Given the description of an element on the screen output the (x, y) to click on. 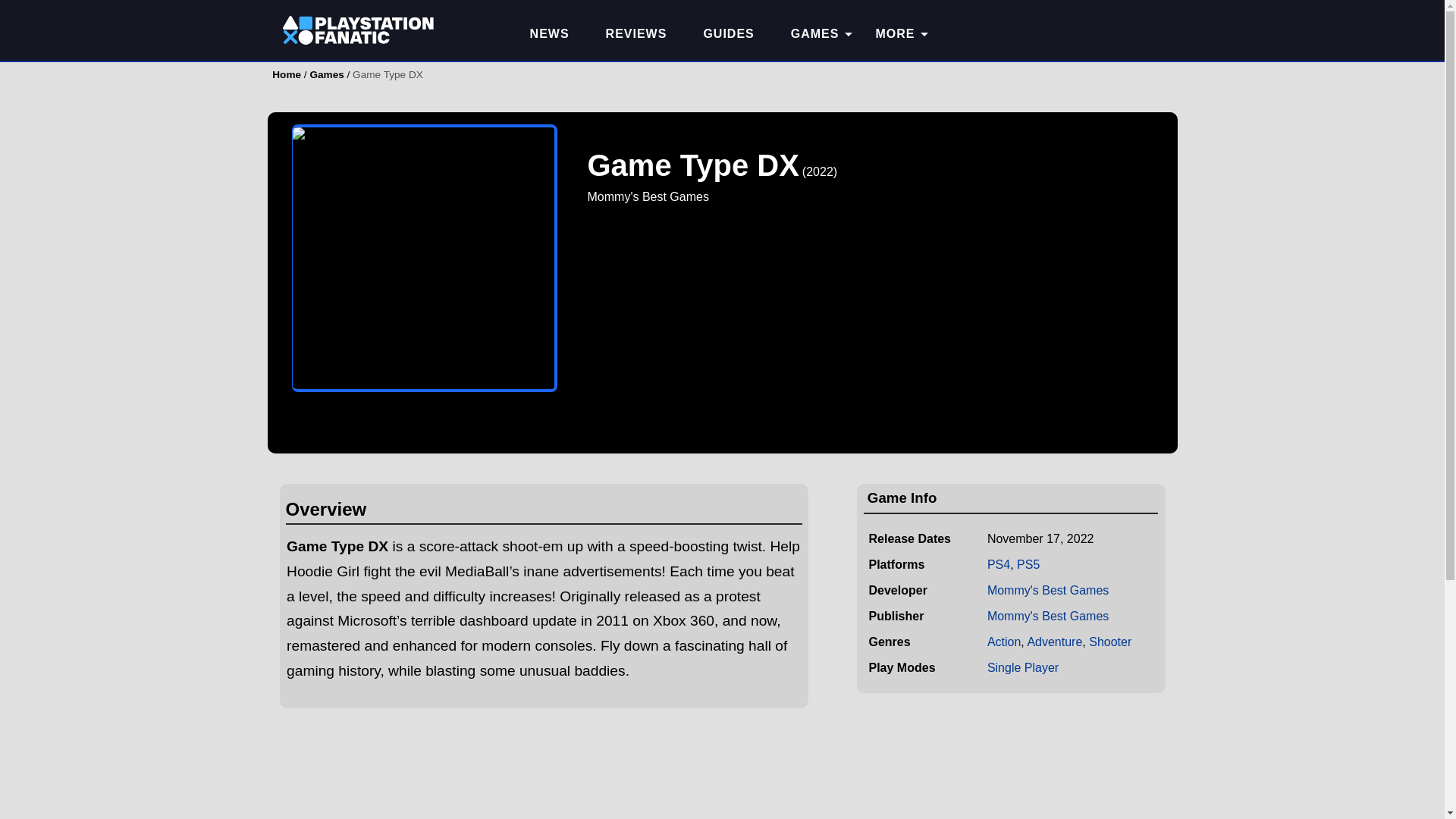
Mommy's Best Games (1047, 590)
Home (286, 74)
PS5 (1027, 563)
PlayStation Fanatic (357, 34)
PS4 (998, 563)
NEWS (550, 34)
MORE (895, 34)
REVIEWS (636, 34)
Open Search (1150, 30)
GAMES (815, 34)
